Given the description of an element on the screen output the (x, y) to click on. 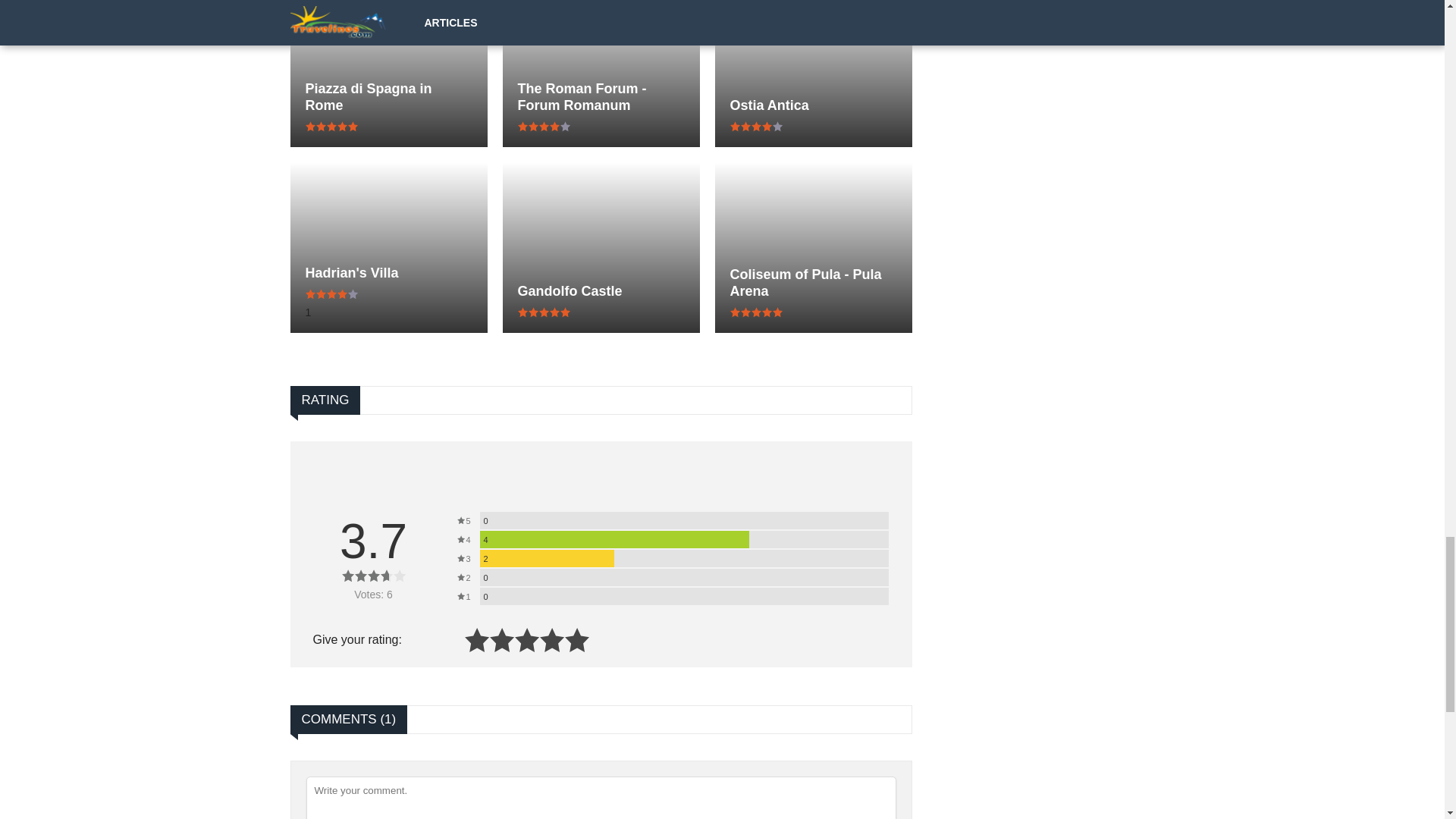
Coliseum of Pula - Pula Arena (812, 282)
Piazza di Spagna in Rome (387, 96)
Gandolfo Castle (600, 290)
Gandolfo Castle (600, 290)
Ostia Antica (812, 105)
The Roman Forum - Forum Romanum (600, 96)
Hadrian's Villa (387, 272)
The Roman Forum - Forum Romanum (600, 96)
Ostia Antica (812, 105)
Hadrian's Villa (387, 272)
